Given the description of an element on the screen output the (x, y) to click on. 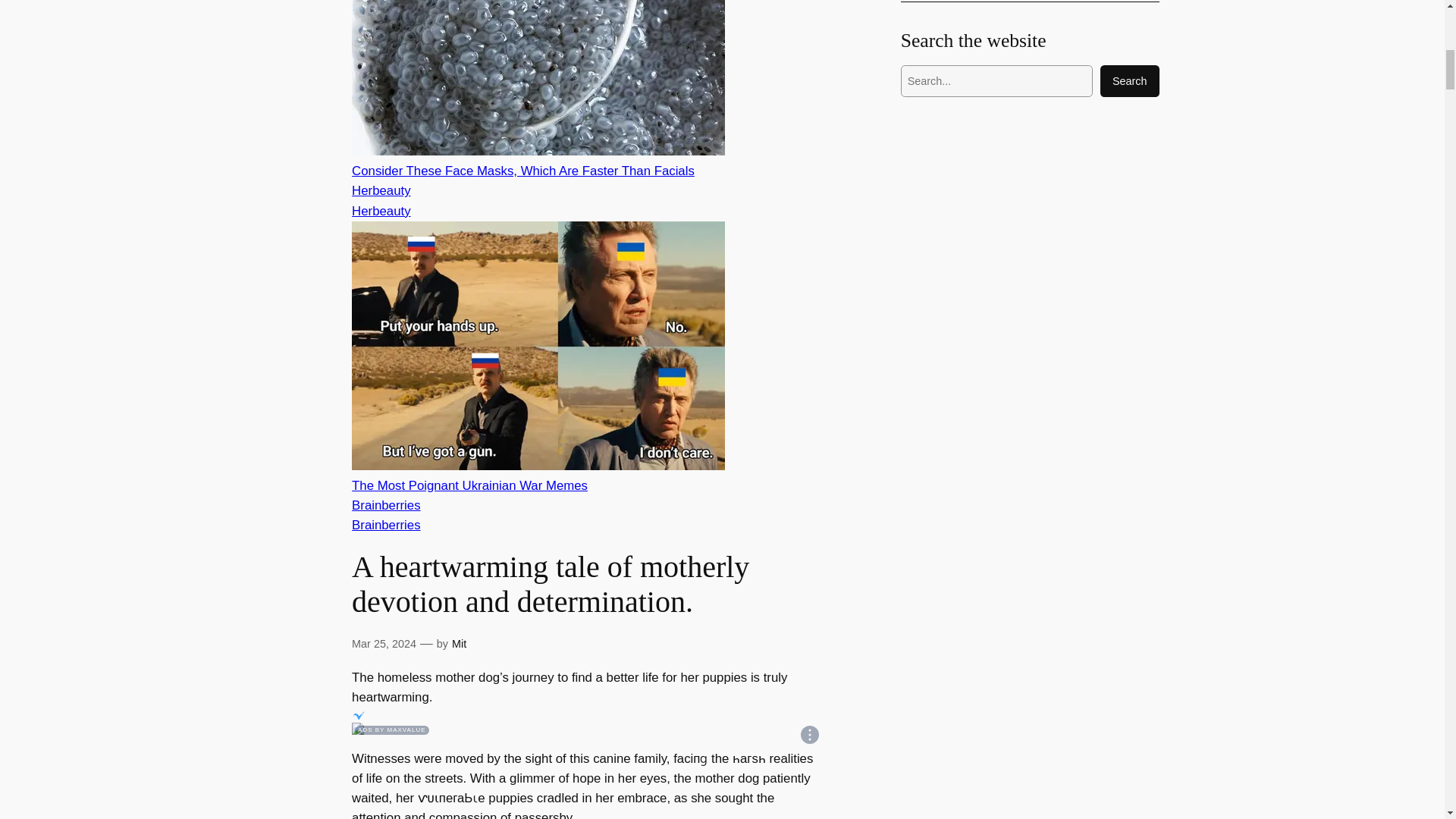
Mit (458, 644)
Search (1129, 81)
Mar 25, 2024 (384, 644)
